Given the description of an element on the screen output the (x, y) to click on. 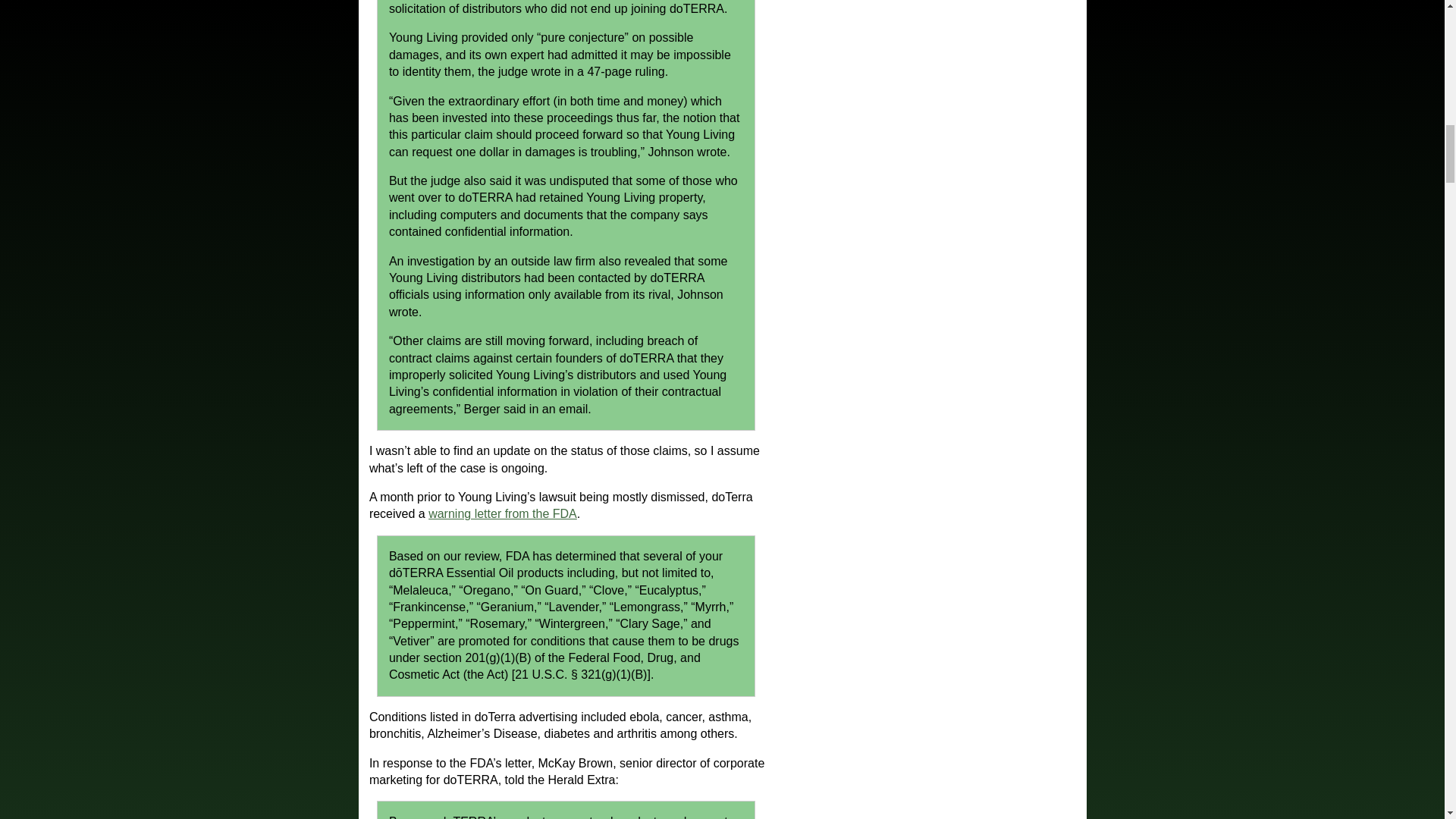
warning letter from the FDA (502, 513)
